Given the description of an element on the screen output the (x, y) to click on. 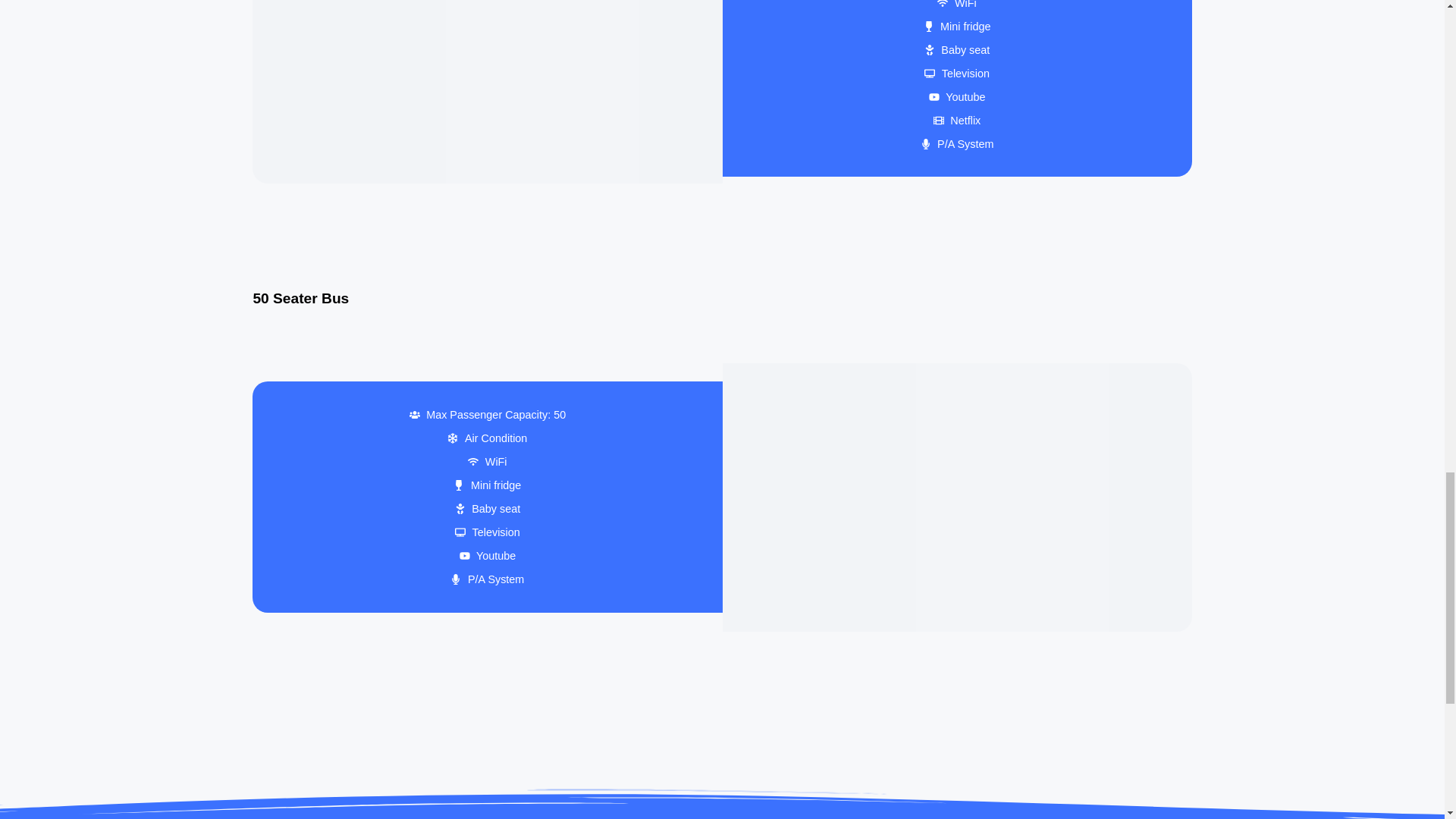
Fleet 14 (486, 92)
